Given the description of an element on the screen output the (x, y) to click on. 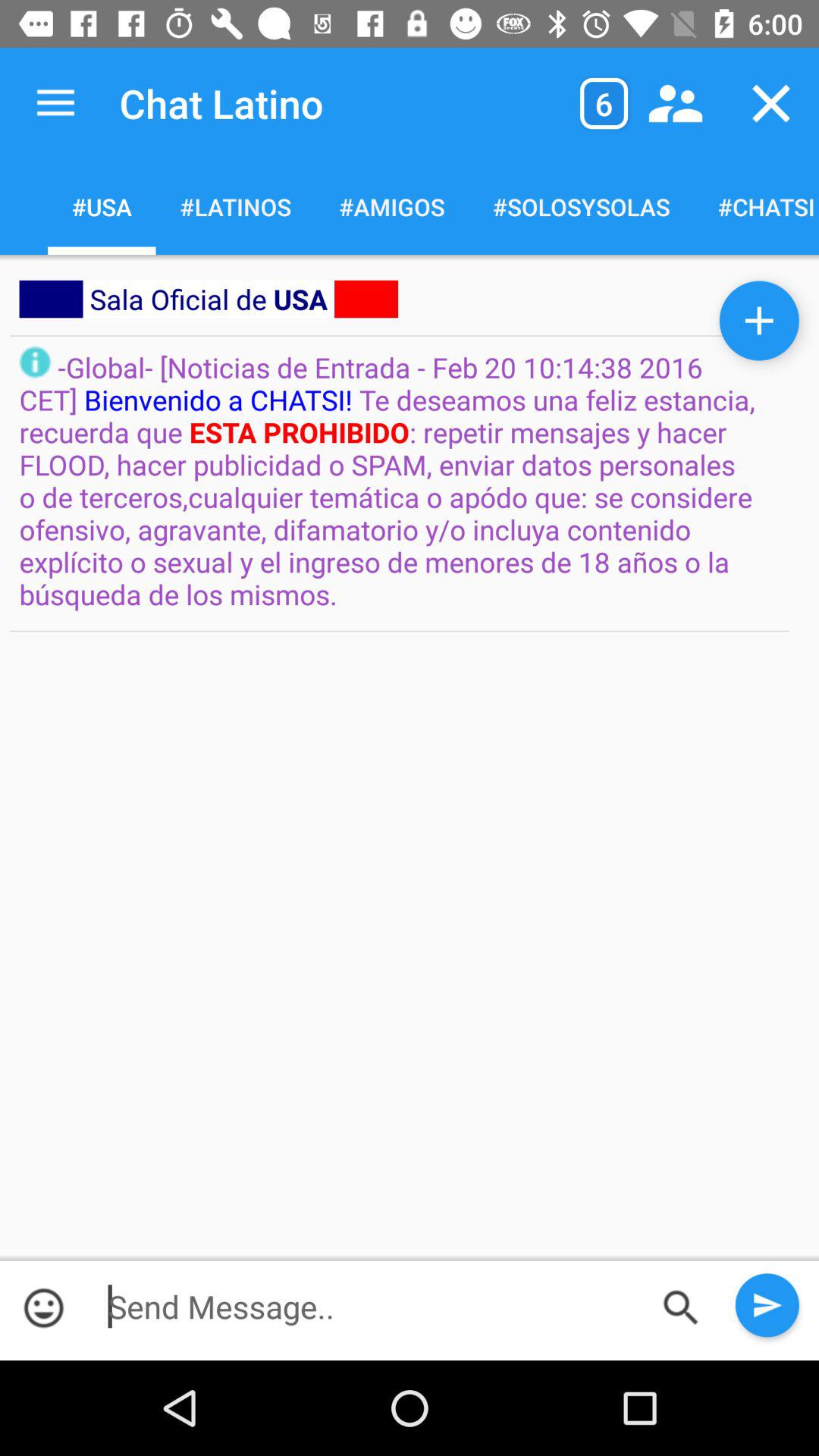
swipe until 6 (603, 103)
